Given the description of an element on the screen output the (x, y) to click on. 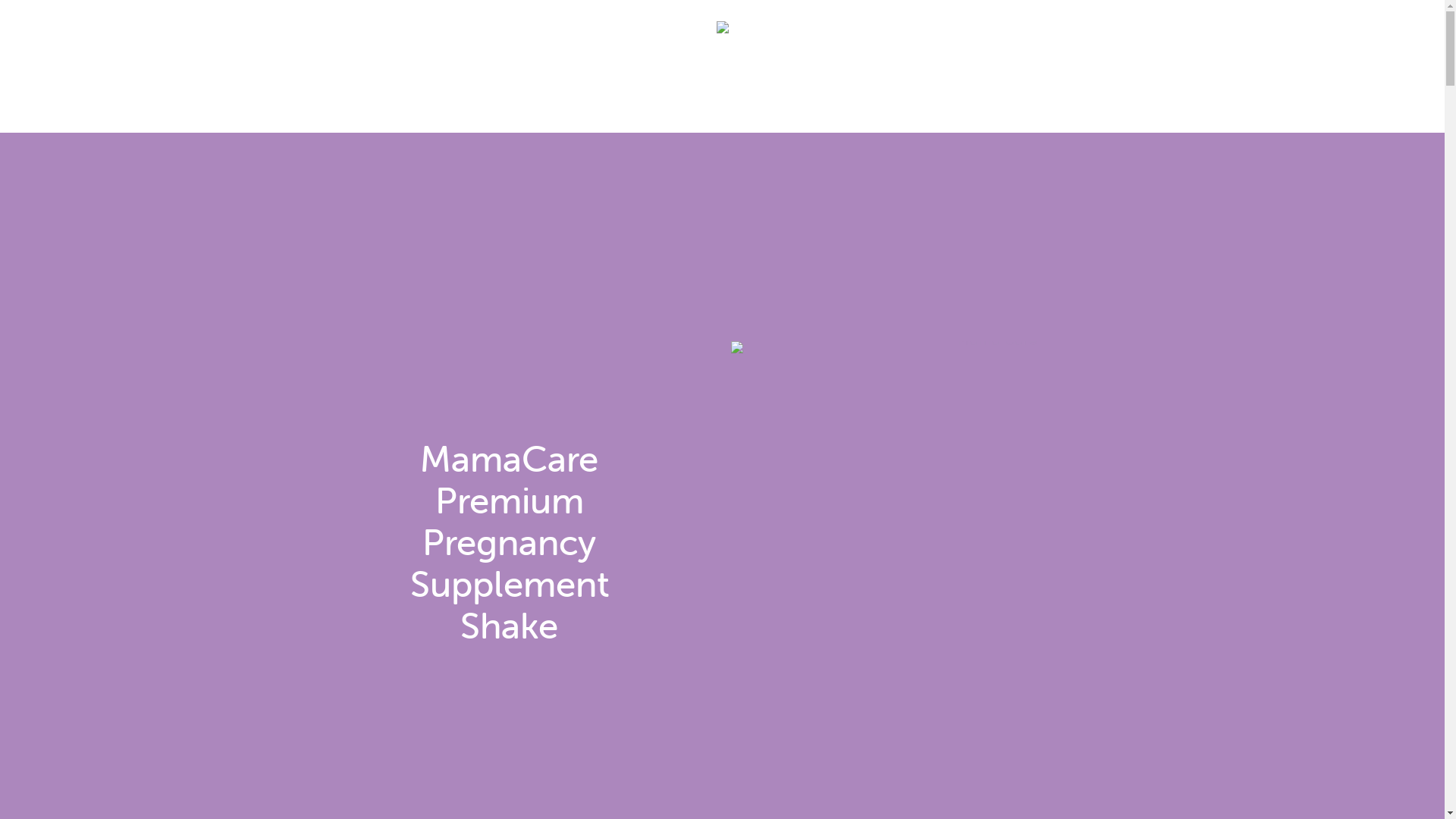
NUTRITION Element type: text (819, 104)
MORNING SICKNESS Element type: text (636, 104)
HEALTH PROFESSIONALS Element type: text (936, 104)
PREGNANCY Element type: text (529, 104)
HOME Element type: text (344, 104)
NEW MUMS Element type: text (740, 104)
PRE-CONCEPTION Element type: text (428, 104)
SHOP Element type: text (1101, 104)
RECIPES Element type: text (1046, 104)
